Given the description of an element on the screen output the (x, y) to click on. 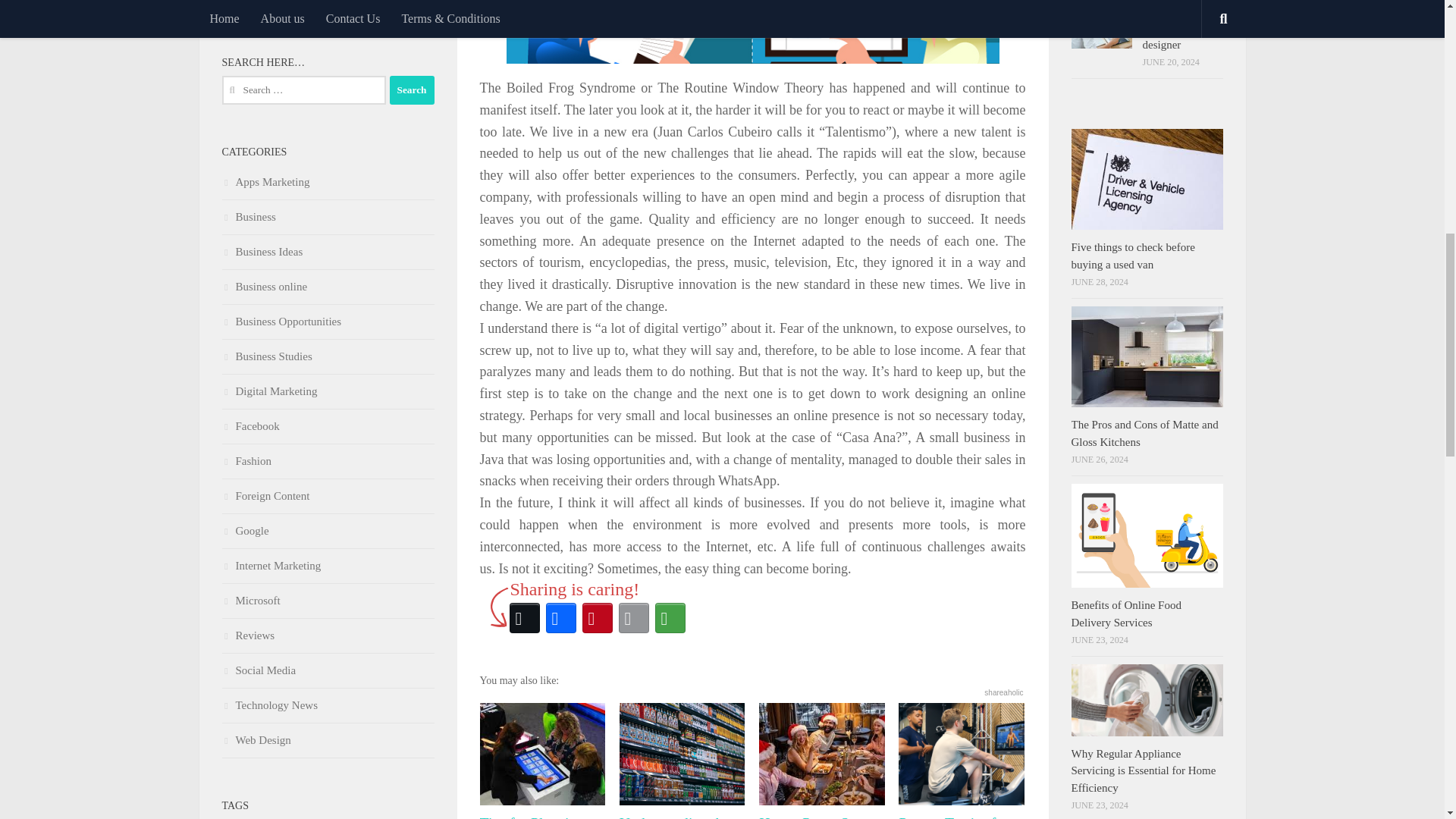
How a Pager System Improves Restaurant Customer Service (821, 760)
More Options (670, 617)
Email This (633, 617)
Search (411, 90)
Pinterest (597, 617)
Facebook (561, 617)
Proven Tactics for Running a Successful Fitness Centre (961, 760)
Tips for Planning Interactive Activities at Your Trade Show (542, 760)
Search (411, 90)
